Given the description of an element on the screen output the (x, y) to click on. 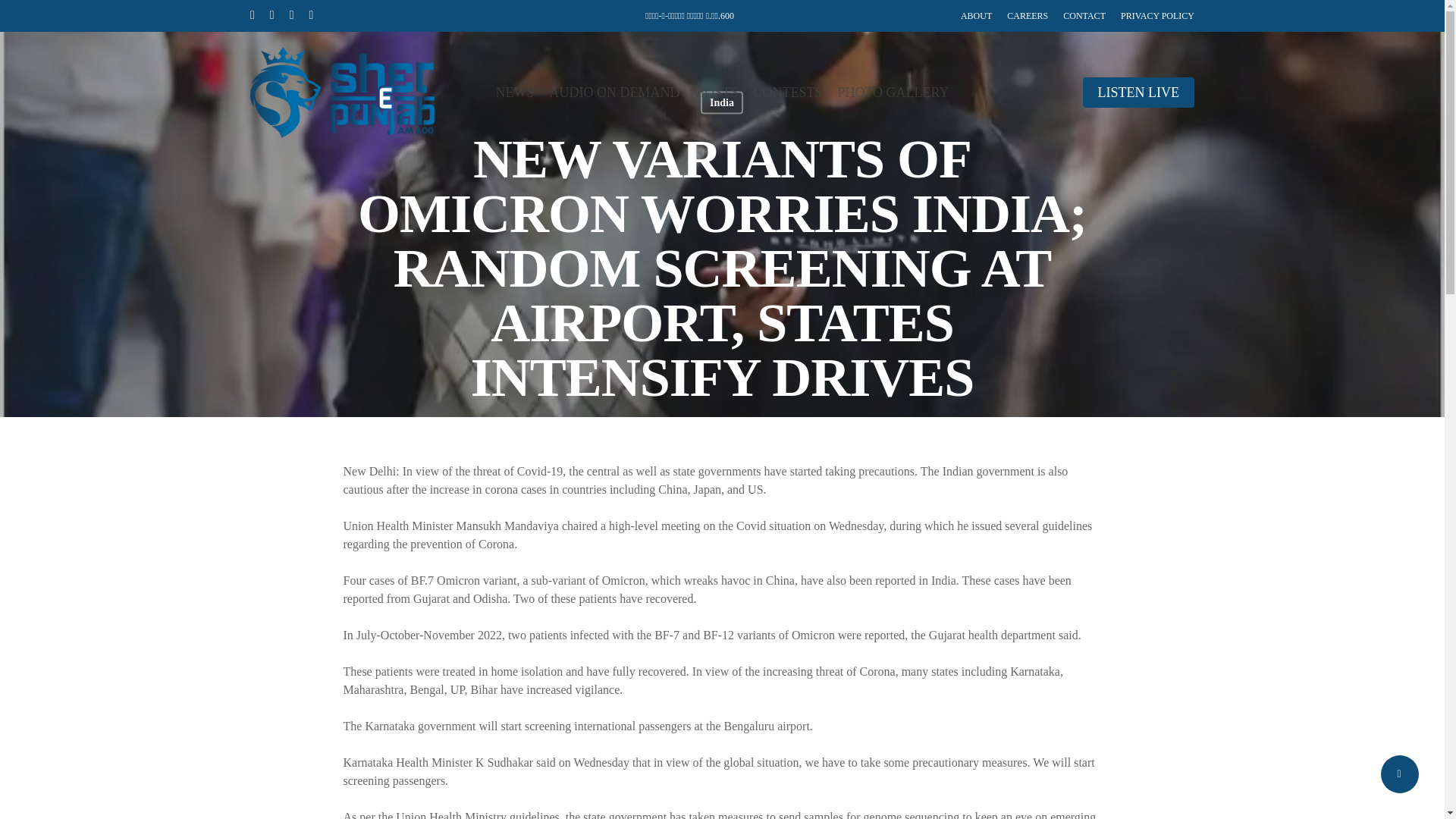
CONTESTS (787, 92)
PRIVACY POLICY (1157, 15)
ABOUT (975, 15)
PHOTO GALLERY (893, 92)
LISTEN LIVE (1138, 92)
HOSTS (716, 92)
NEWS (514, 92)
AUDIO ON DEMAND (613, 92)
India (721, 101)
CAREERS (1027, 15)
CONTACT (1083, 15)
